Given the description of an element on the screen output the (x, y) to click on. 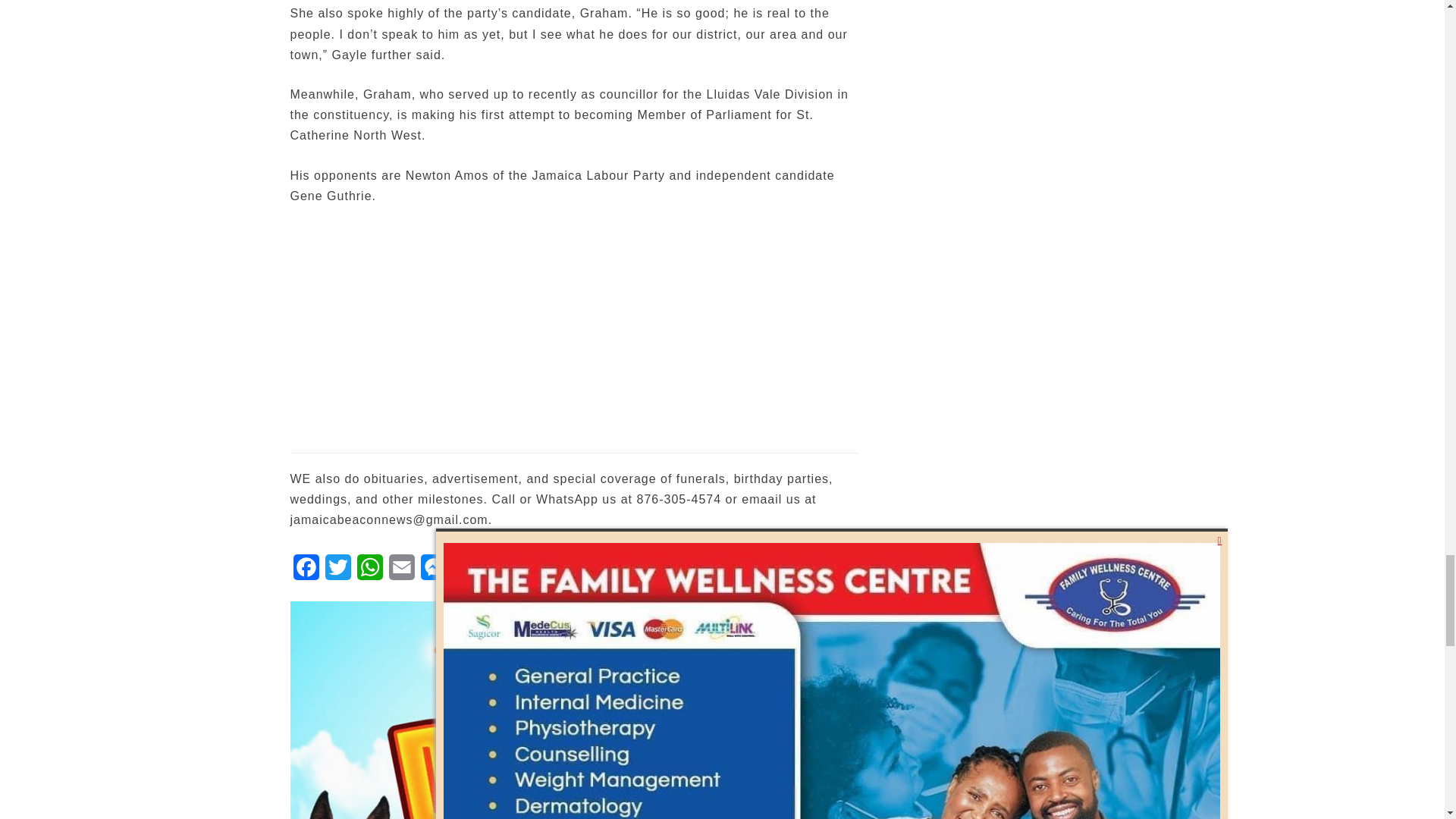
Twitter (337, 571)
Facebook (305, 571)
Facebook (305, 571)
Messenger (432, 571)
WhatsApp (369, 571)
Email (400, 571)
WhatsApp (369, 571)
Email (400, 571)
Twitter (337, 571)
